Given the description of an element on the screen output the (x, y) to click on. 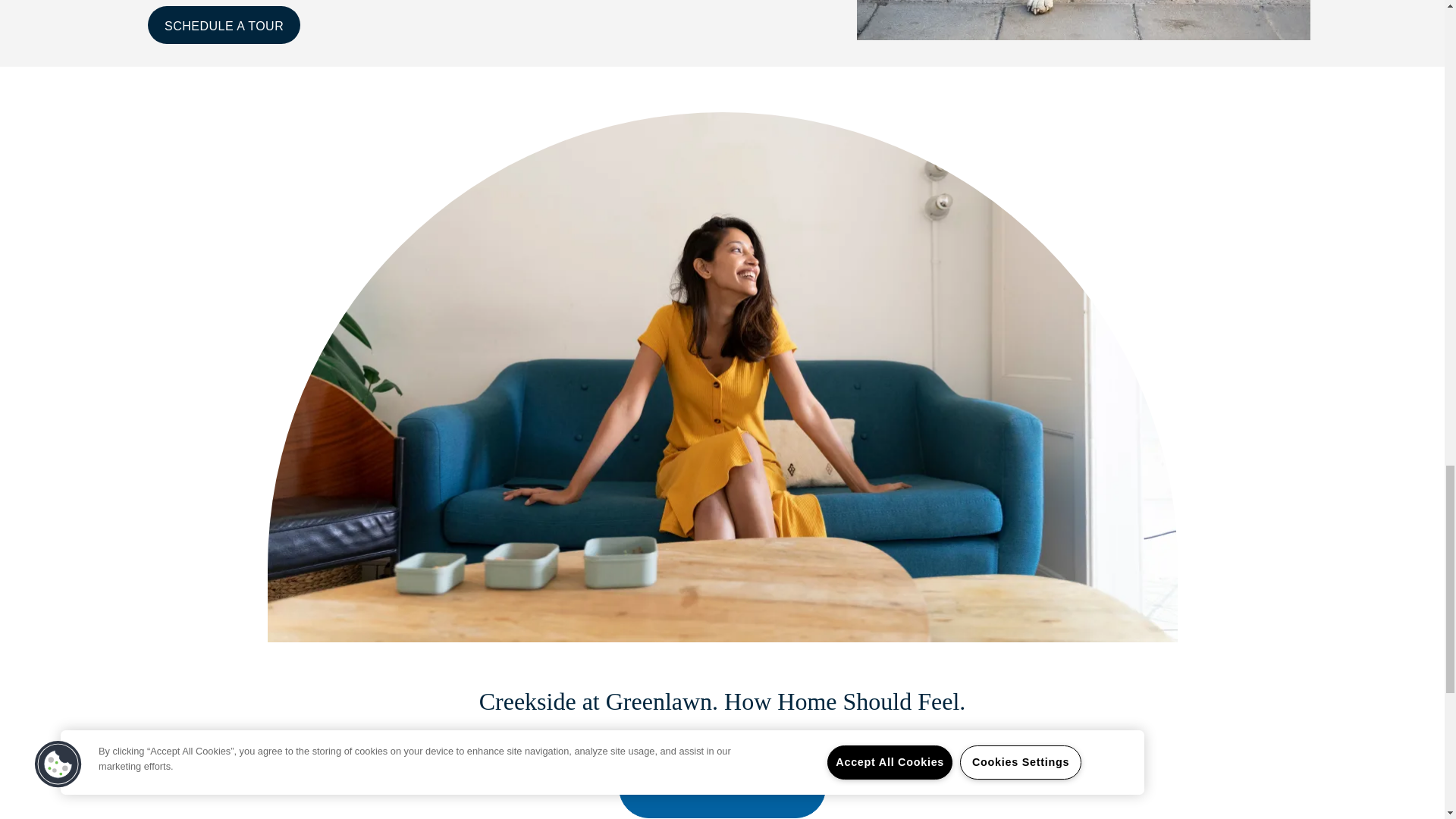
SCHEDULE A TOUR (223, 24)
CHECK AVAILABILITY (721, 787)
